Given the description of an element on the screen output the (x, y) to click on. 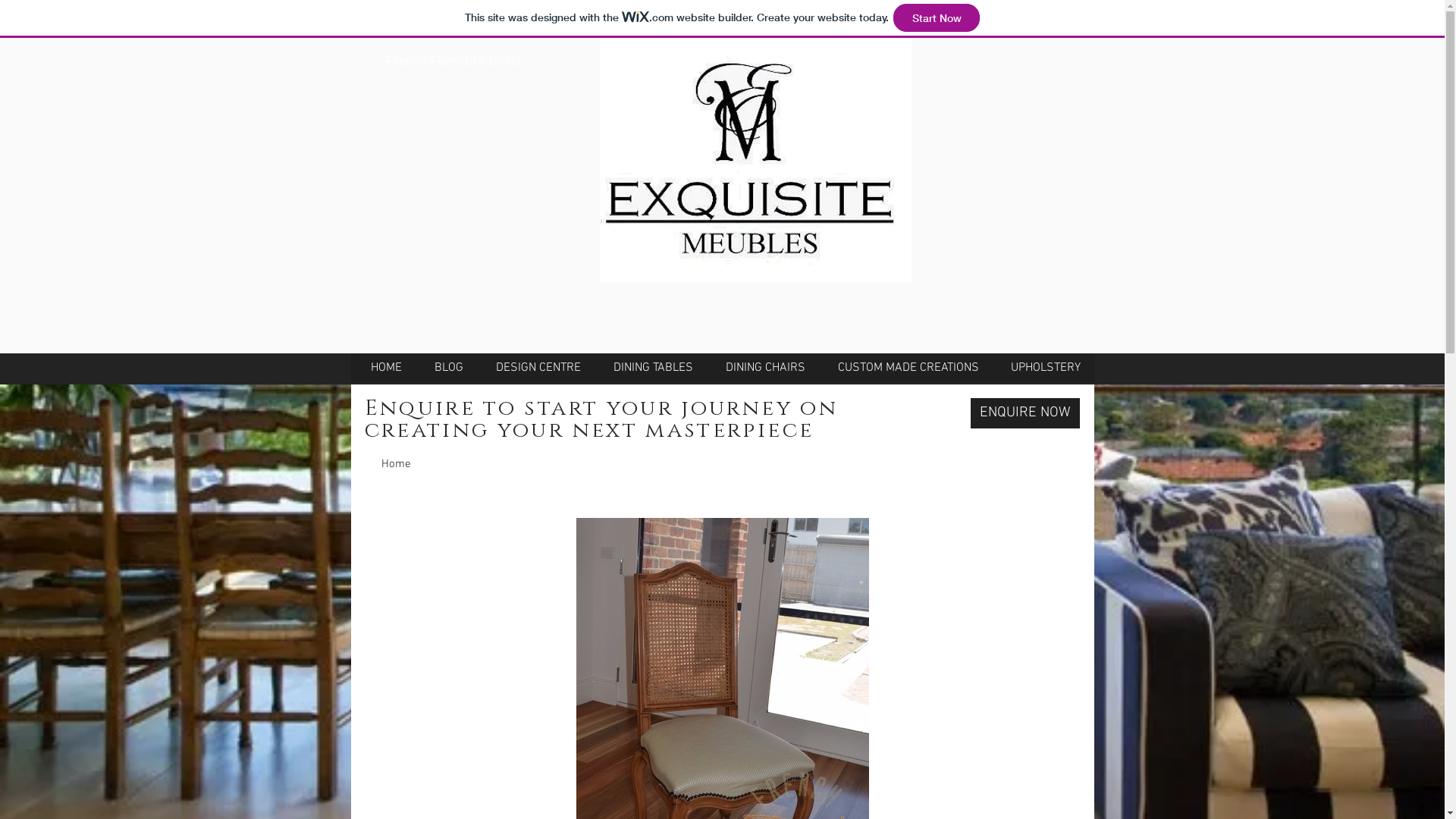
DESIGN CENTRE Element type: text (537, 367)
HOME Element type: text (386, 367)
Home Element type: text (395, 463)
ENQUIRE NOW Element type: text (1024, 413)
CUSTOM MADE CREATIONS Element type: text (908, 367)
DINING CHAIRS Element type: text (765, 367)
DINING TABLES Element type: text (653, 367)
UPHOLSTERY Element type: text (1045, 367)
BLOG Element type: text (449, 367)
